Given the description of an element on the screen output the (x, y) to click on. 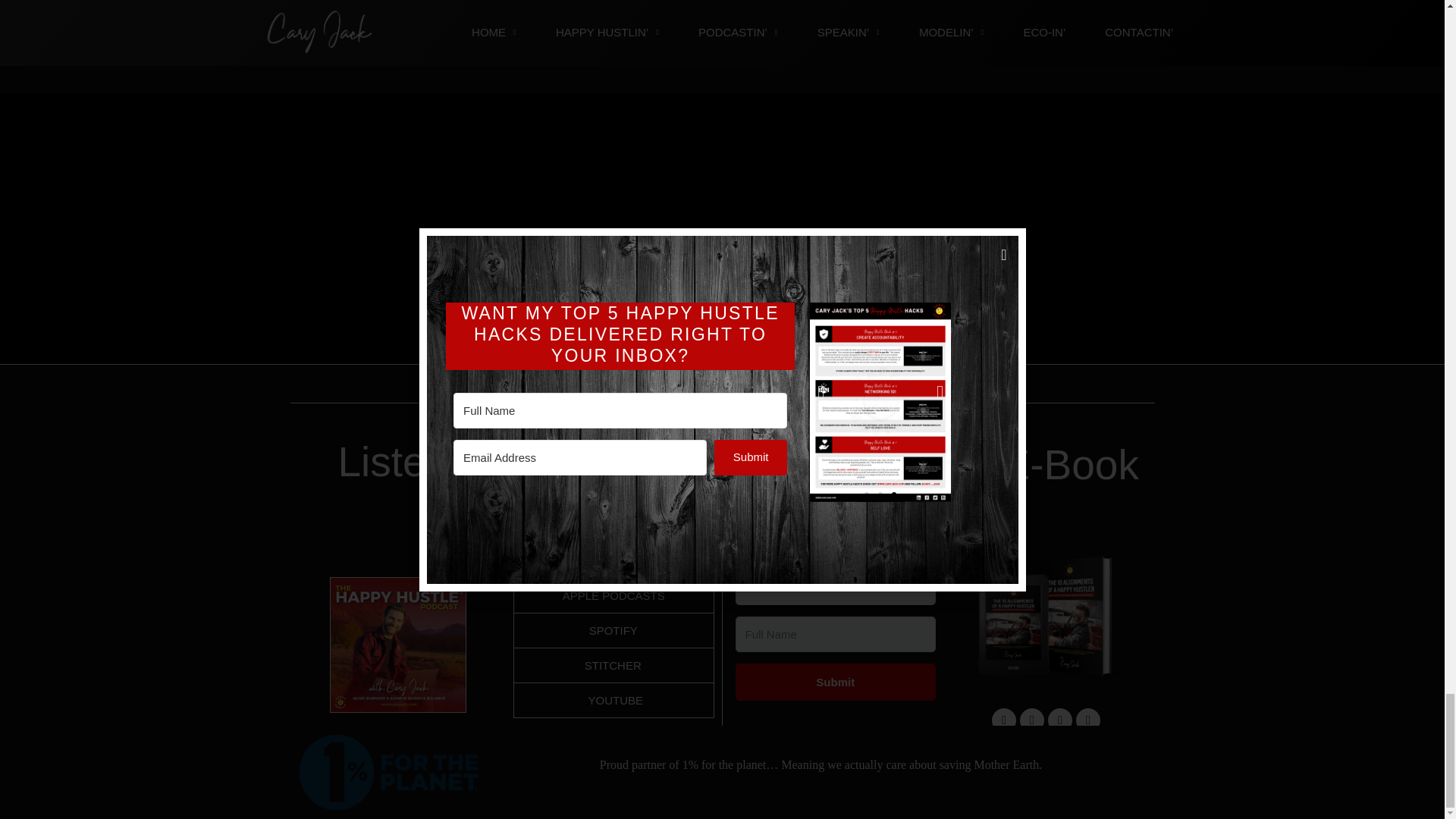
caryjack-icon-footer-souncloud (969, 258)
caryjack-icon-footer-youtube (598, 258)
caryjack-icon-footer-stitcher (722, 258)
caryjack-icon-footer-applepodcast (474, 258)
caryjack-icon-footer-spotify (845, 258)
